Given the description of an element on the screen output the (x, y) to click on. 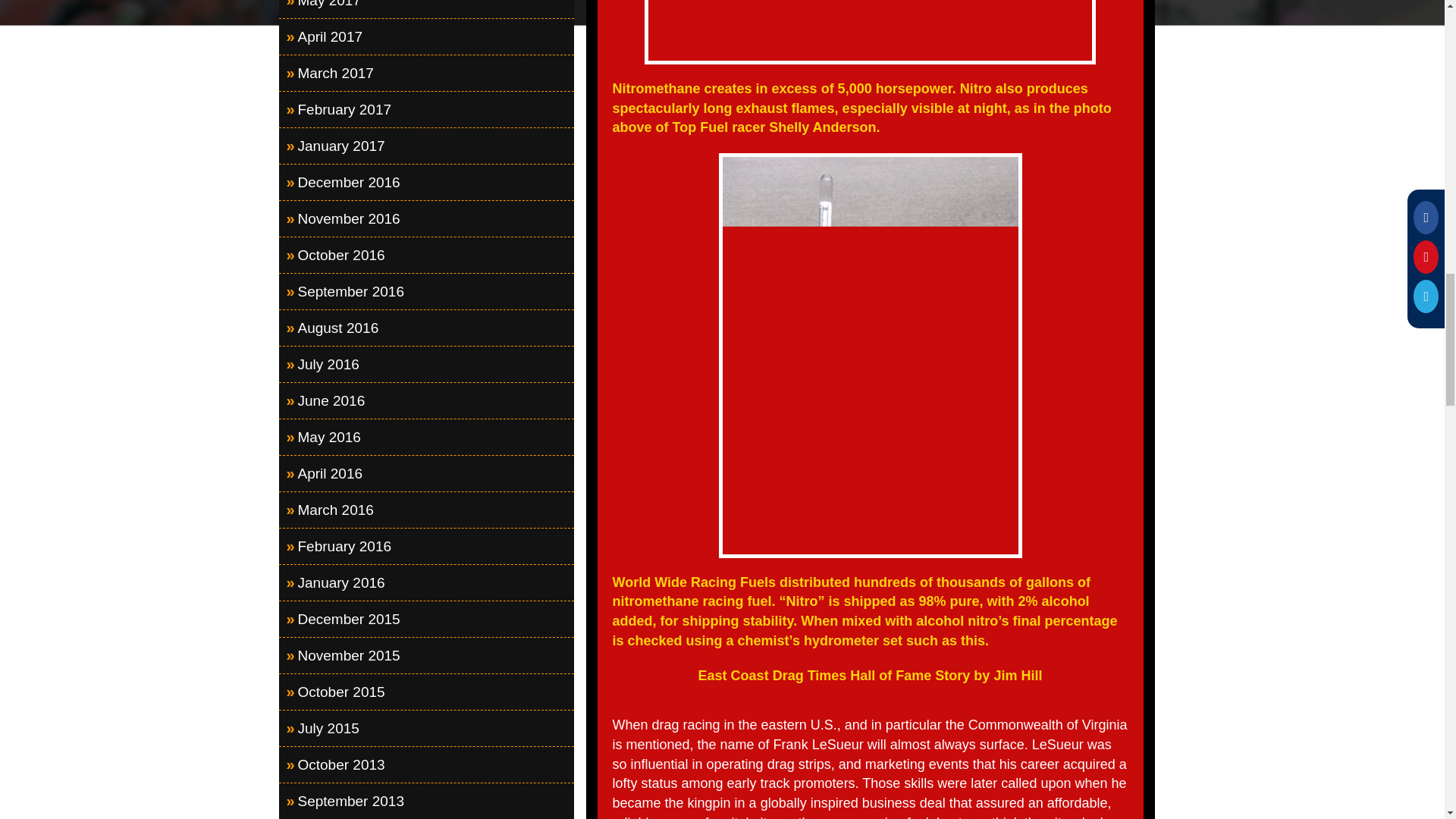
February 2017 (427, 109)
March 2017 (427, 72)
January 2017 (427, 145)
December 2016 (427, 181)
May 2017 (427, 9)
April 2017 (427, 36)
